Given the description of an element on the screen output the (x, y) to click on. 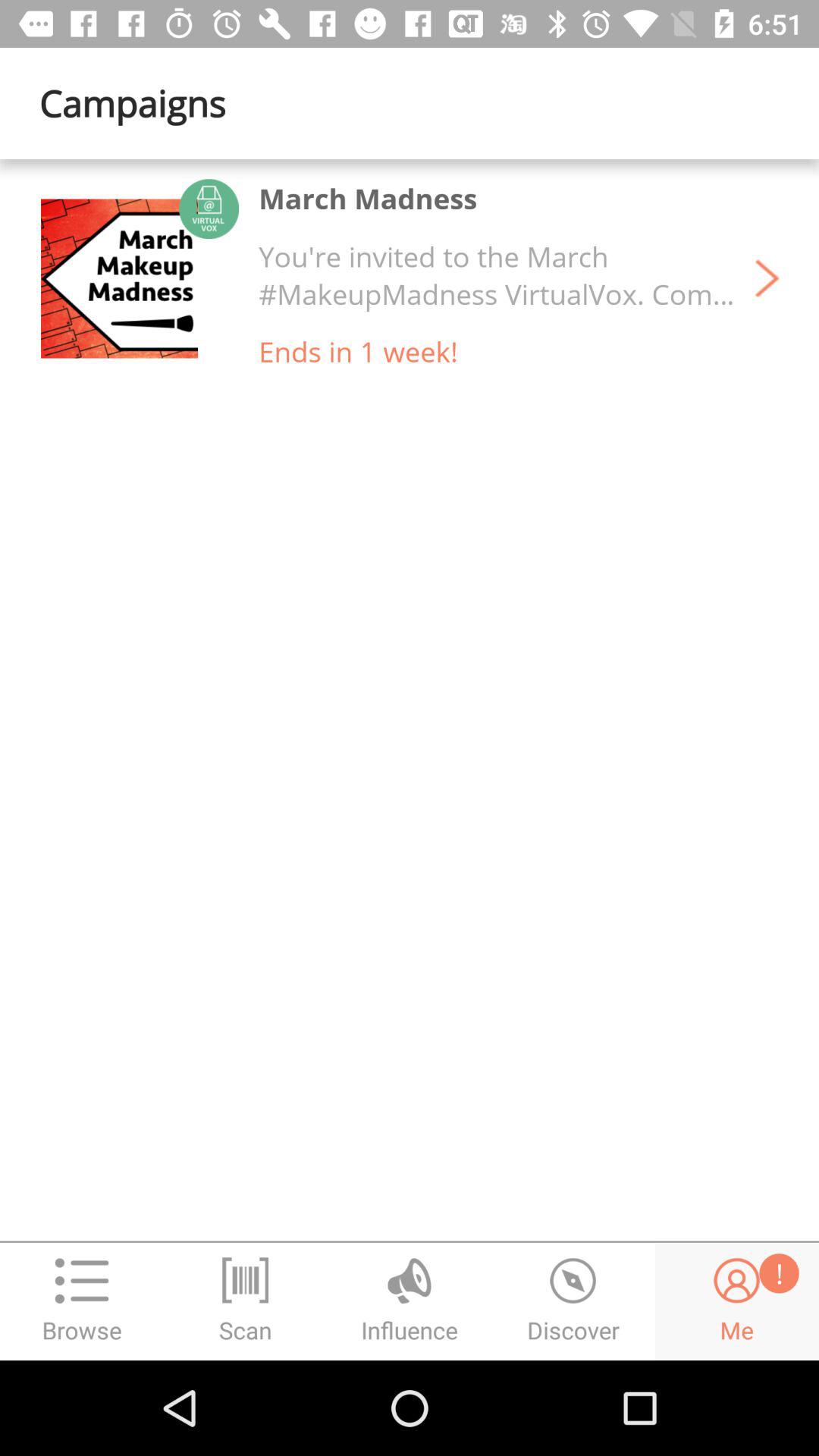
tap icon above ends in 1 icon (496, 274)
